Given the description of an element on the screen output the (x, y) to click on. 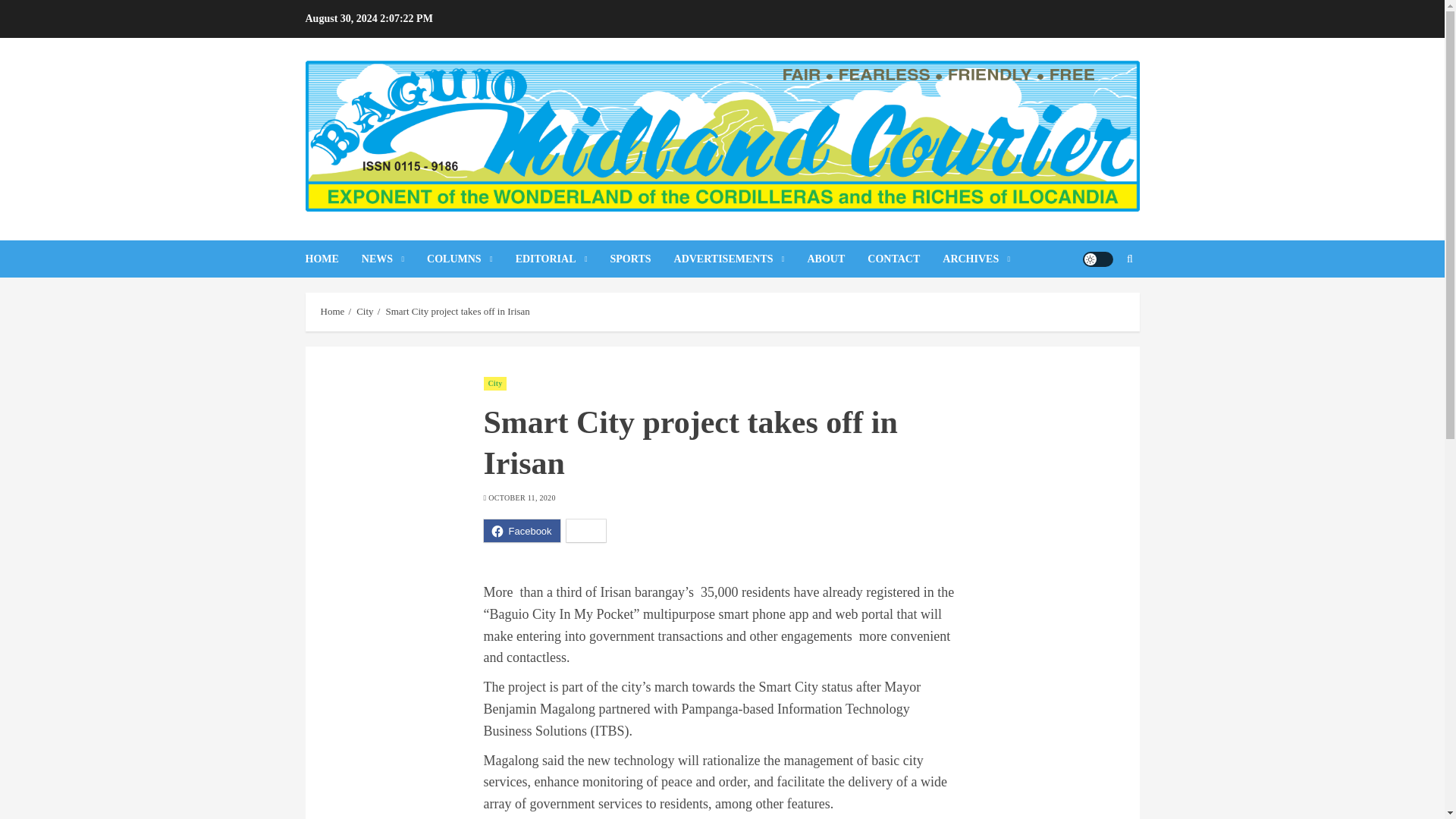
NEWS (393, 258)
HOME (332, 258)
Click to share on Facebook (521, 530)
EDITORIAL (562, 258)
COLUMNS (470, 258)
Click to share on X (586, 530)
